Given the description of an element on the screen output the (x, y) to click on. 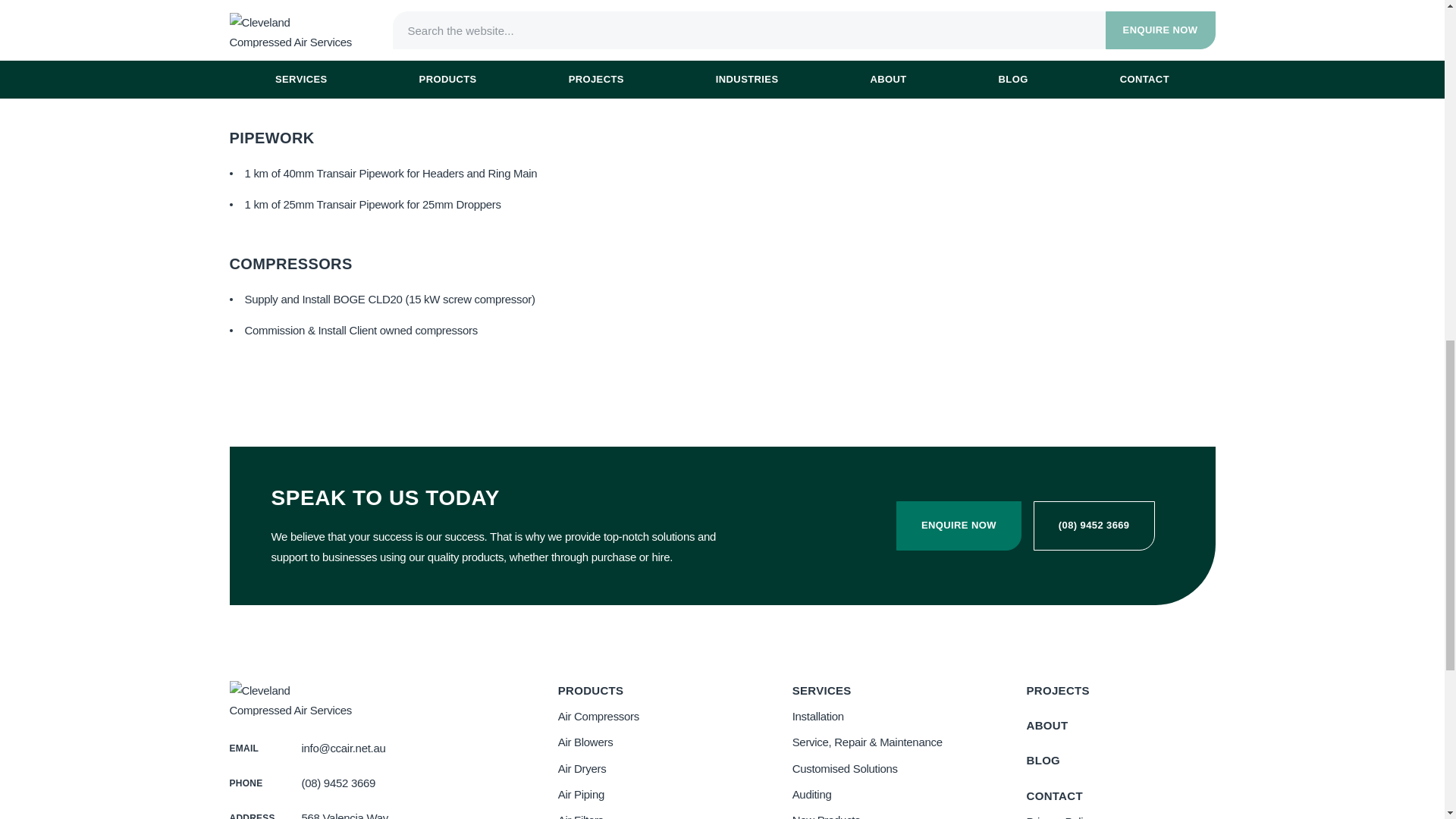
Cleveland Compressed Air Services (290, 698)
